Given the description of an element on the screen output the (x, y) to click on. 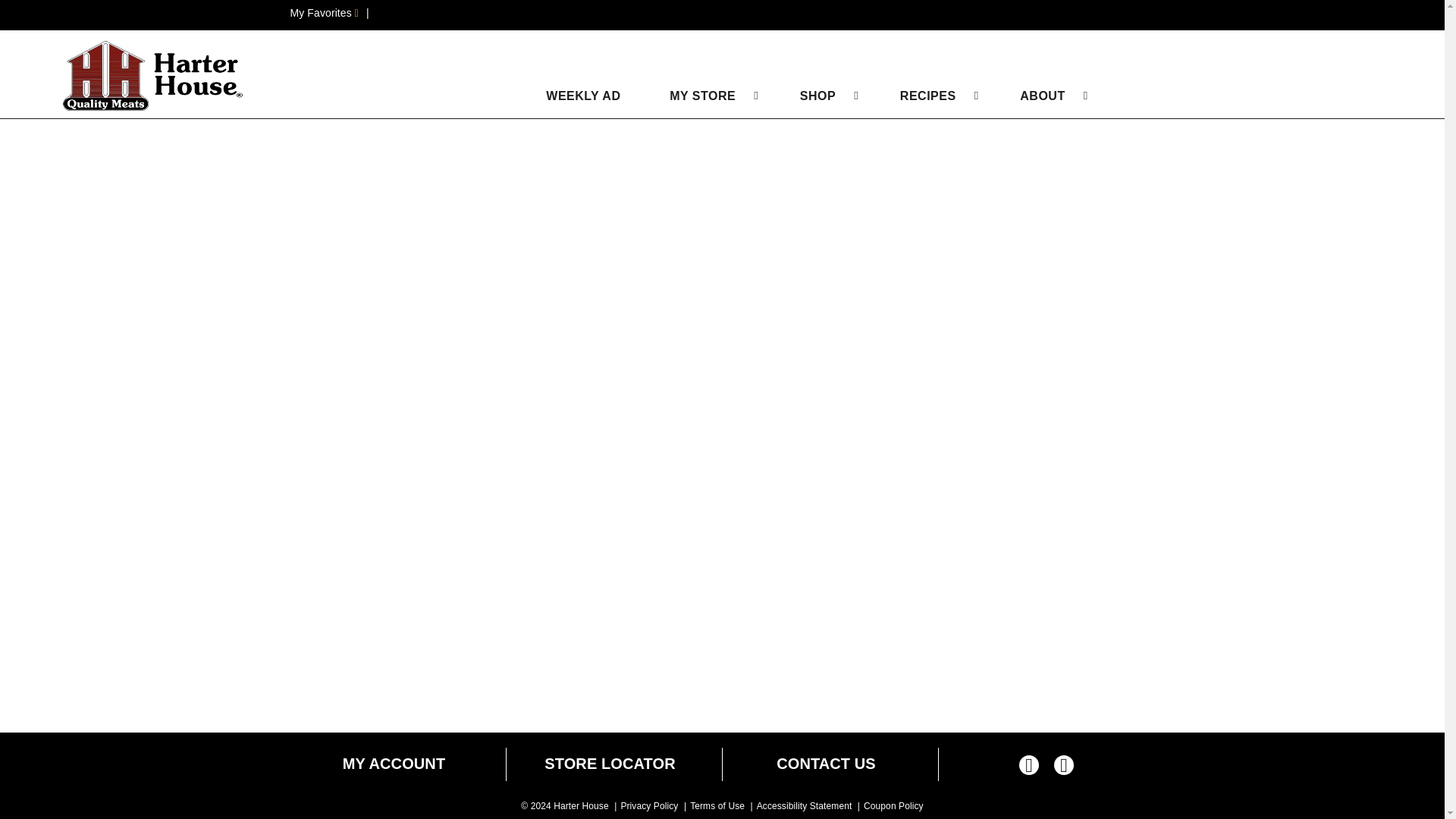
STORE LOCATOR (609, 764)
RECIPES (928, 95)
twitter (1064, 766)
MY STORE (702, 95)
Accessibility Statement (804, 805)
CONTACT US (826, 764)
facebook (1029, 766)
MY ACCOUNT (393, 764)
WEEKLY AD (574, 95)
Terms of Use (717, 805)
SHOP (818, 95)
ABOUT (1042, 95)
Harter House (154, 75)
My Favorites  (323, 12)
Privacy Policy (649, 805)
